Given the description of an element on the screen output the (x, y) to click on. 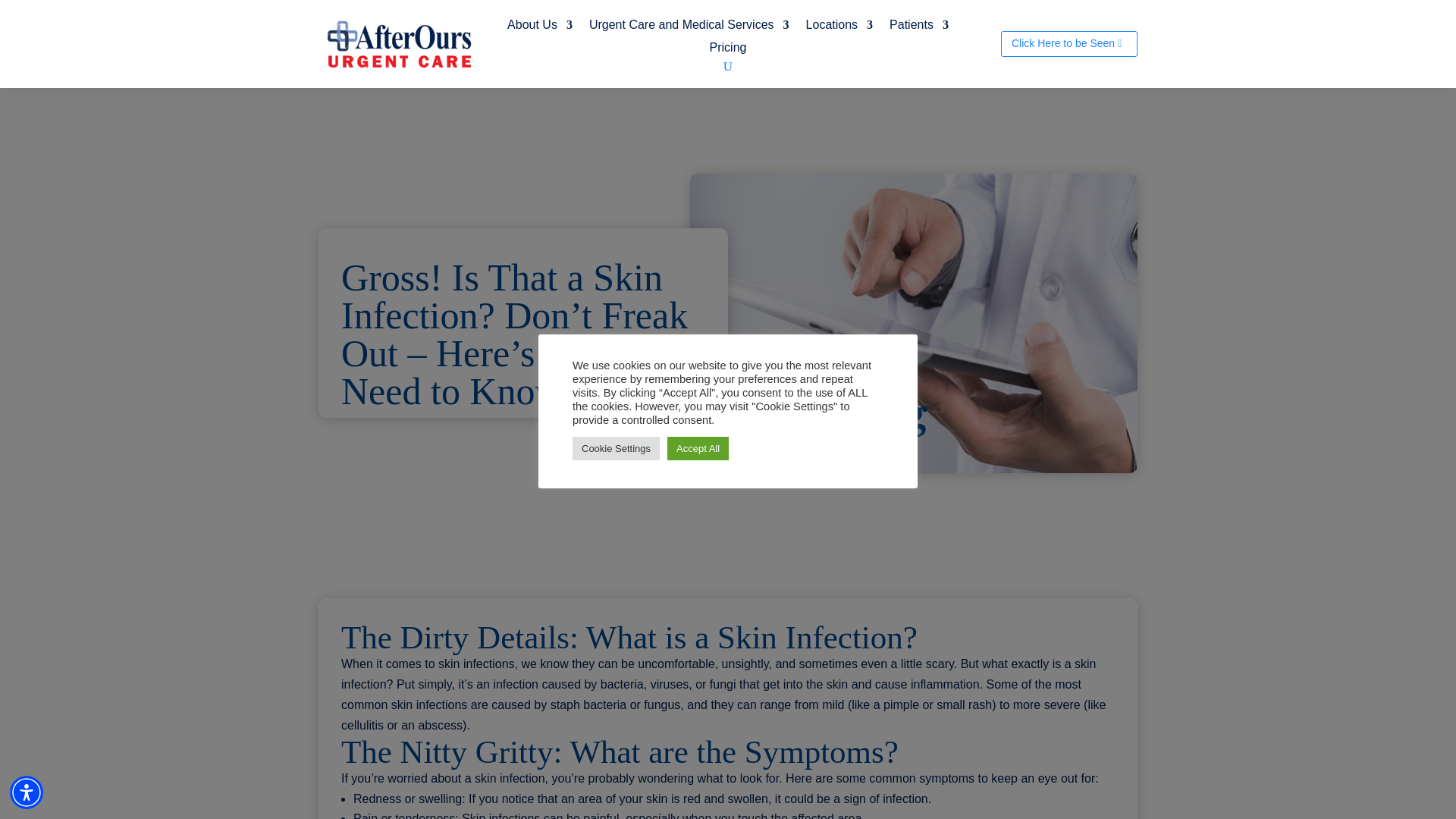
About Us (539, 27)
After Ours Inc Blog (913, 322)
AfterOurs Clinics - Colorado (399, 43)
Urgent Care and Medical Services (689, 27)
Accessibility Menu (26, 792)
